Given the description of an element on the screen output the (x, y) to click on. 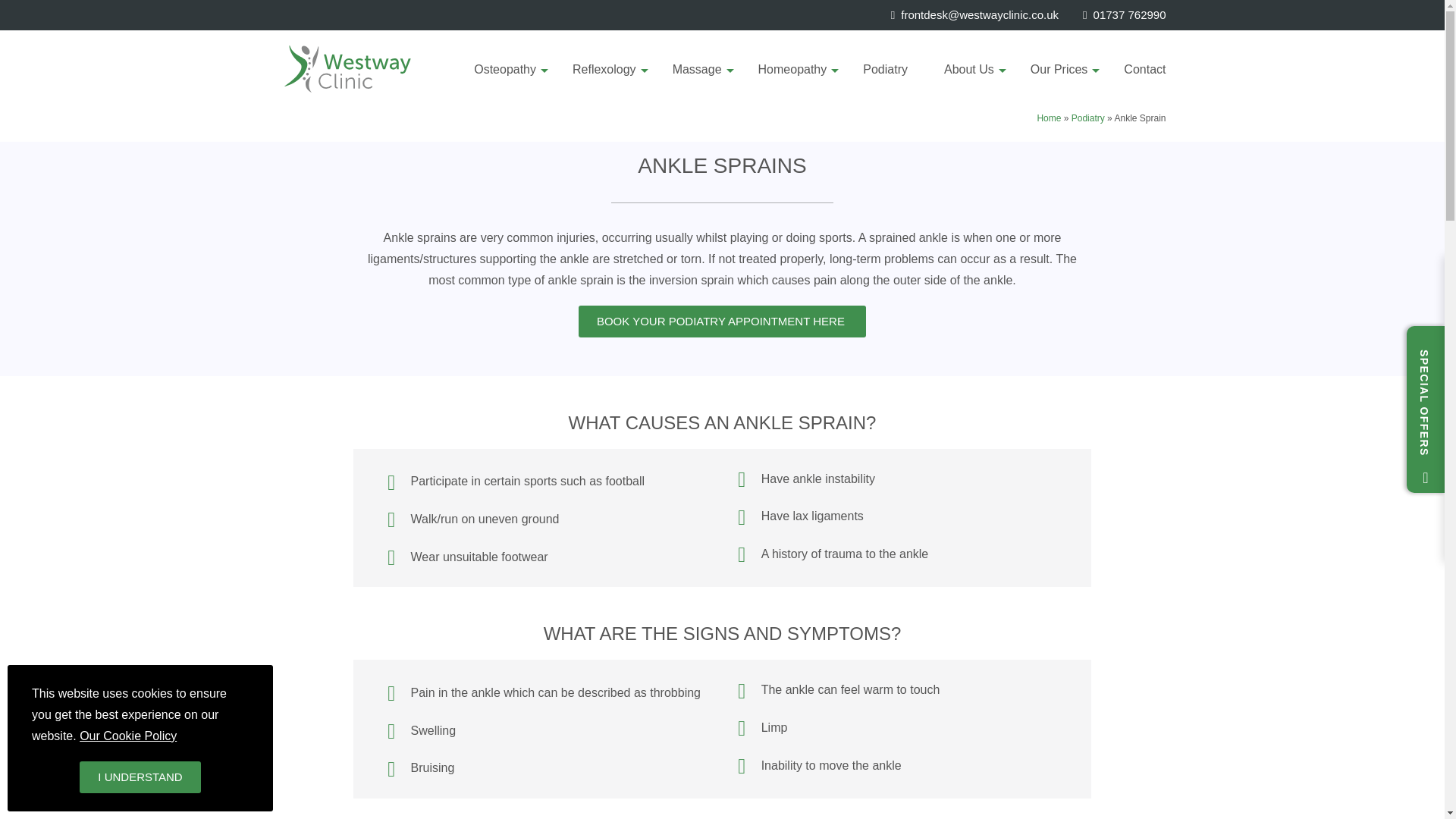
Our Cookie Policy (128, 735)
I UNDERSTAND (140, 777)
